Given the description of an element on the screen output the (x, y) to click on. 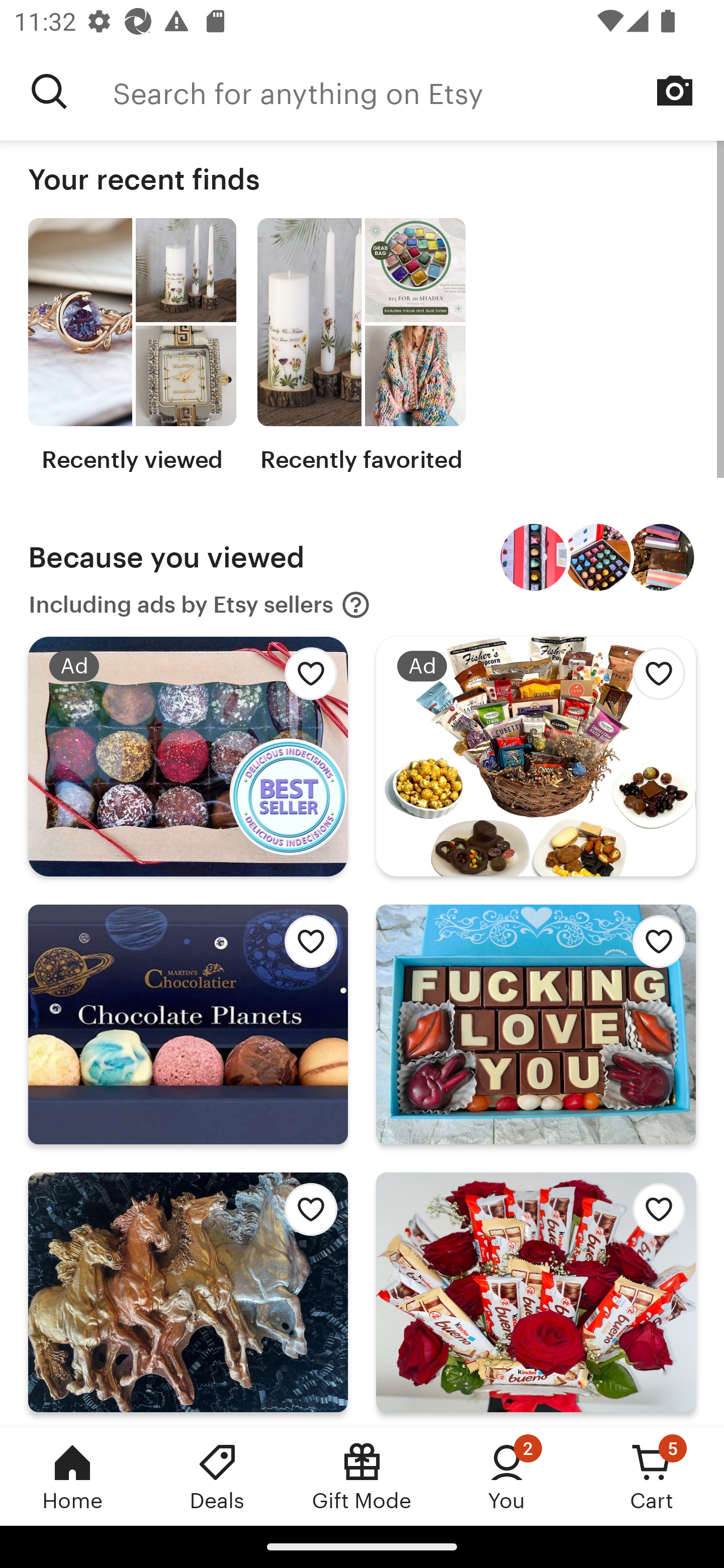
Search for anything on Etsy (49, 91)
Search by image (674, 90)
Search for anything on Etsy (418, 91)
Recently viewed (132, 345)
Recently favorited (361, 345)
Including ads by Etsy sellers (199, 604)
Add Premium roses & bueno bouquet to favorites (653, 1214)
Deals (216, 1475)
Gift Mode (361, 1475)
You, 2 new notifications You (506, 1475)
Cart, 5 new notifications Cart (651, 1475)
